Given the description of an element on the screen output the (x, y) to click on. 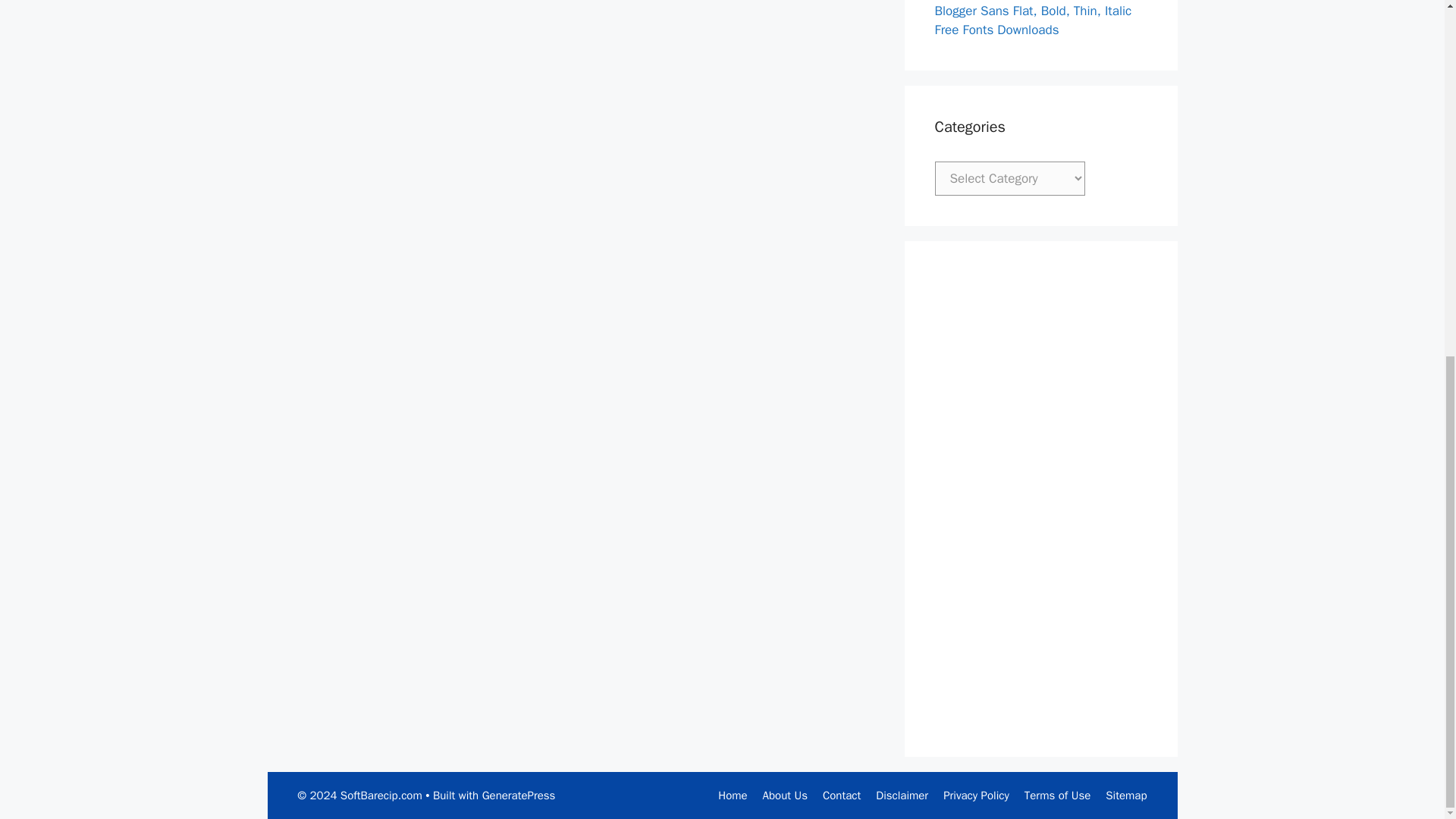
Uni Neue Free Sans Serif Font Downloads (121, 594)
Digital Millennium Copyright Act Notice (156, 9)
Contact (56, 81)
Amazon Affiliate Disclaimer (129, 45)
Search for: (142, 312)
Blogger Sans Flat, Bold, Thin, Italic Free Fonts Downloads (134, 730)
Aerojones Flat, Bold Free Font Downloads (120, 439)
Colus Regular Free Font Downloads (135, 488)
What to Lookout for When Choosing a Laptop (142, 633)
Top 5 Best Mobile Shopping Apps (131, 468)
